Given the description of an element on the screen output the (x, y) to click on. 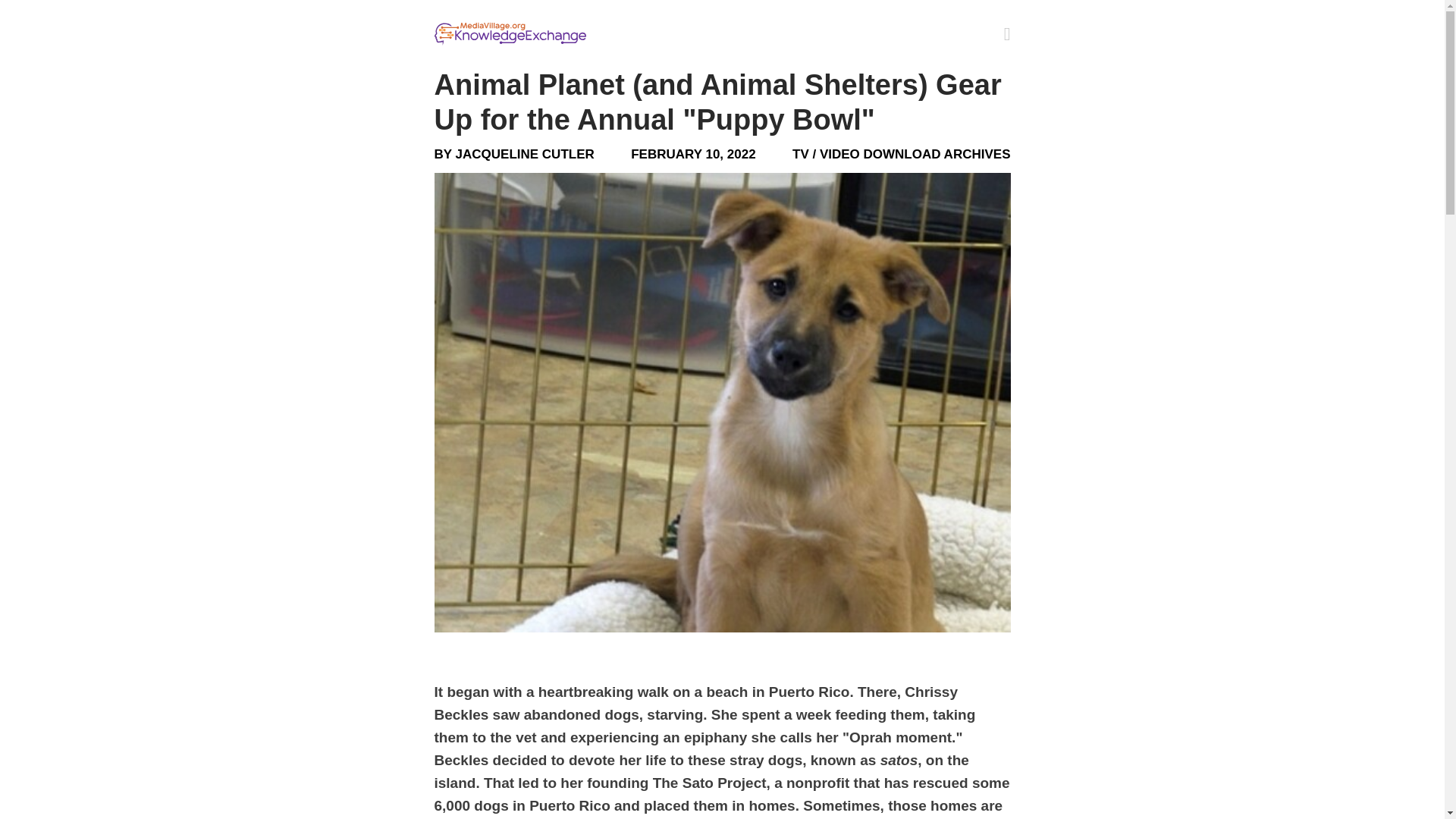
JACQUELINE CUTLER (524, 154)
